Given the description of an element on the screen output the (x, y) to click on. 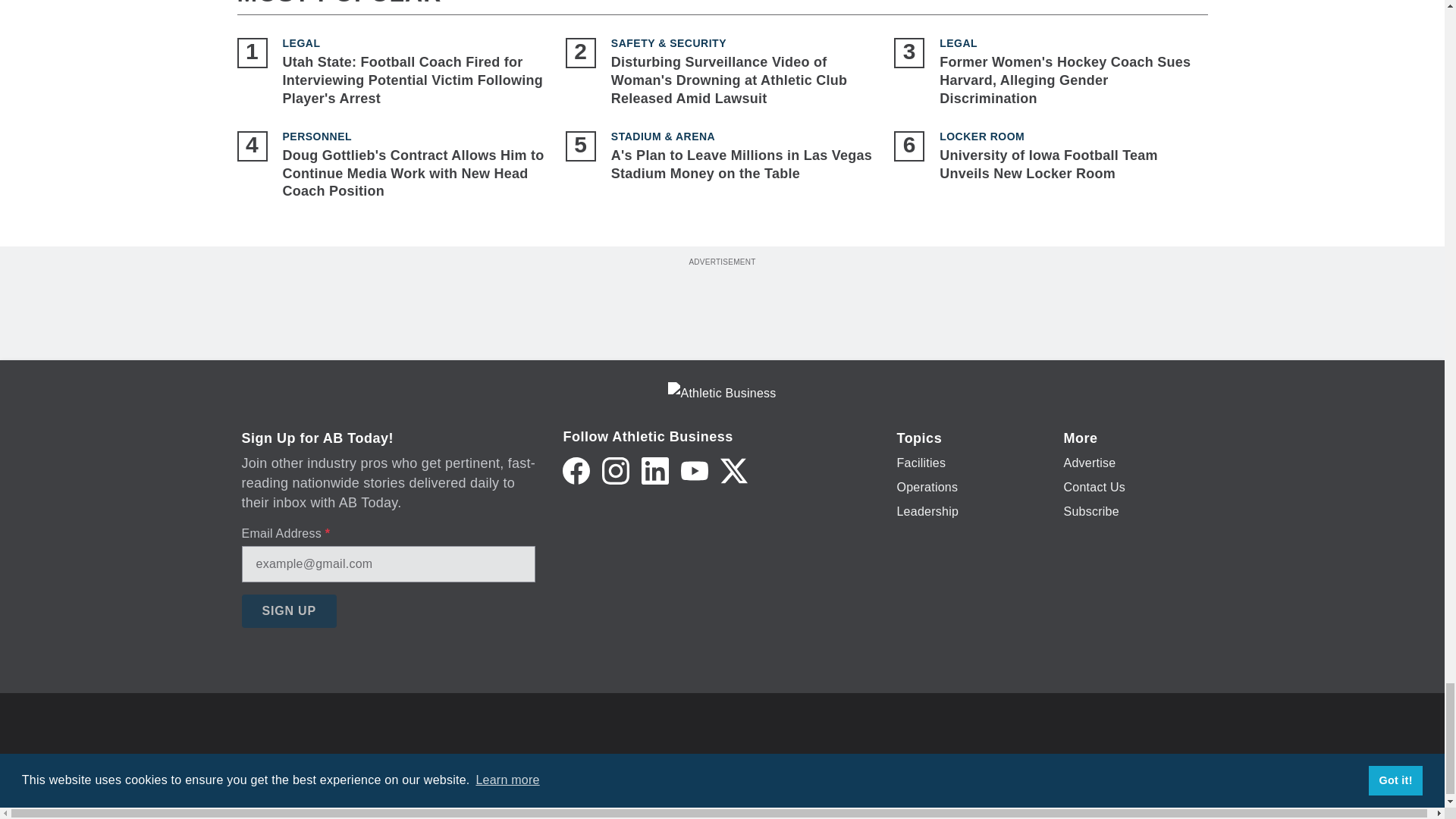
Facebook icon (575, 470)
LinkedIn icon (655, 470)
Instagram icon (615, 470)
YouTube icon (694, 470)
